Given the description of an element on the screen output the (x, y) to click on. 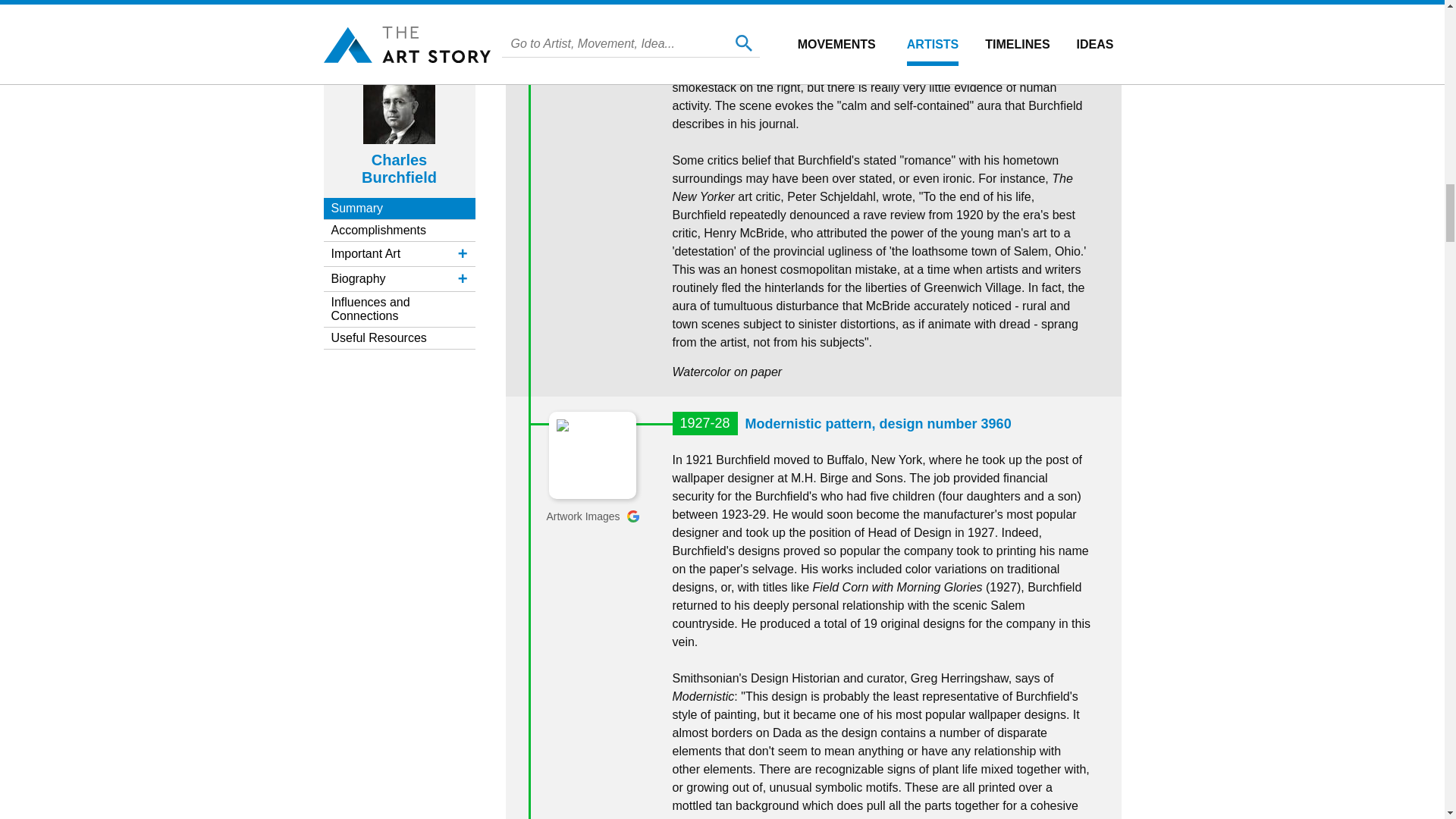
Artwork Images (592, 516)
